Given the description of an element on the screen output the (x, y) to click on. 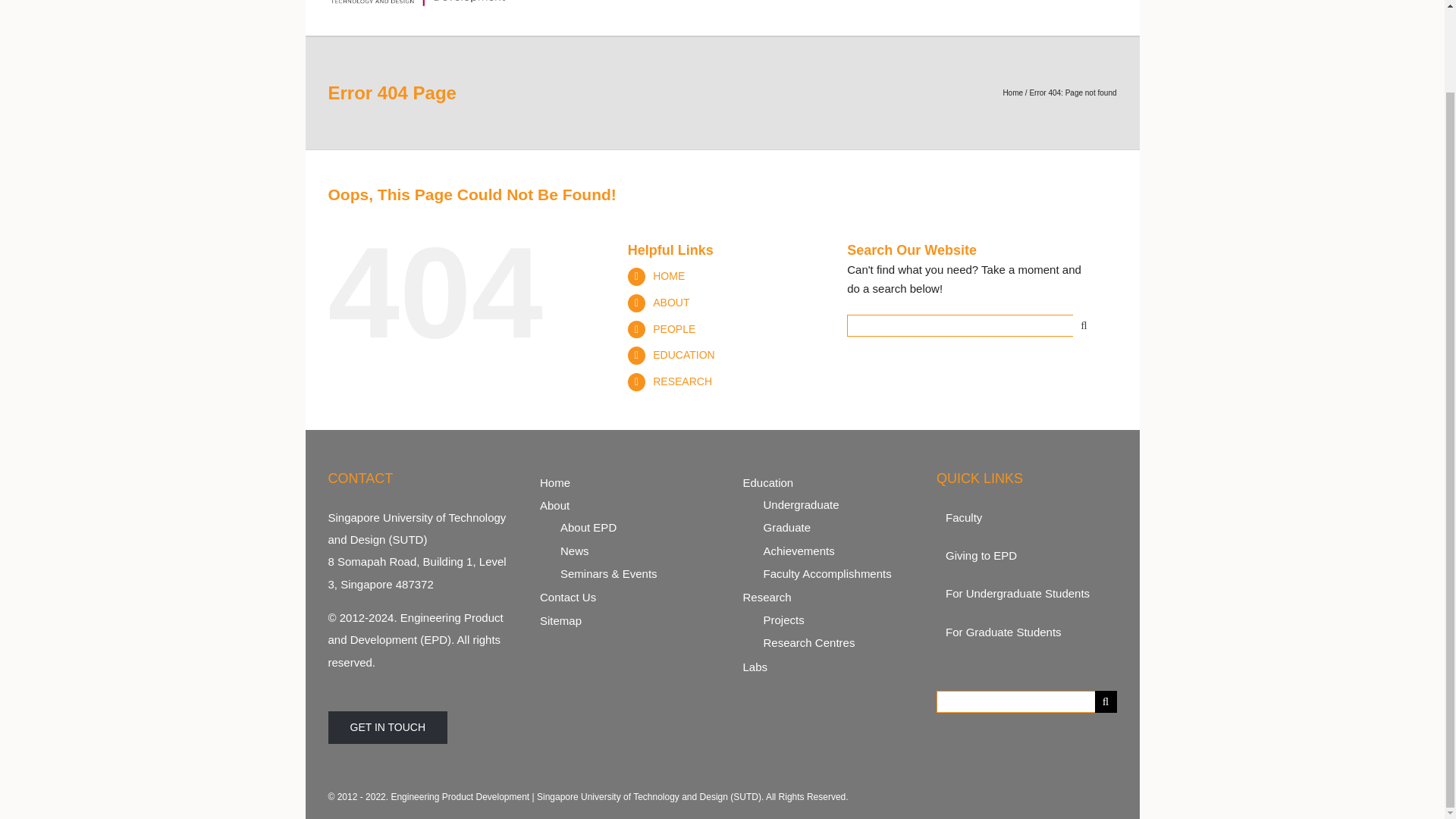
EDUCATION (965, 2)
PEOPLE (883, 2)
HOME (755, 2)
Search (1112, 2)
ABOUT (814, 2)
